Given the description of an element on the screen output the (x, y) to click on. 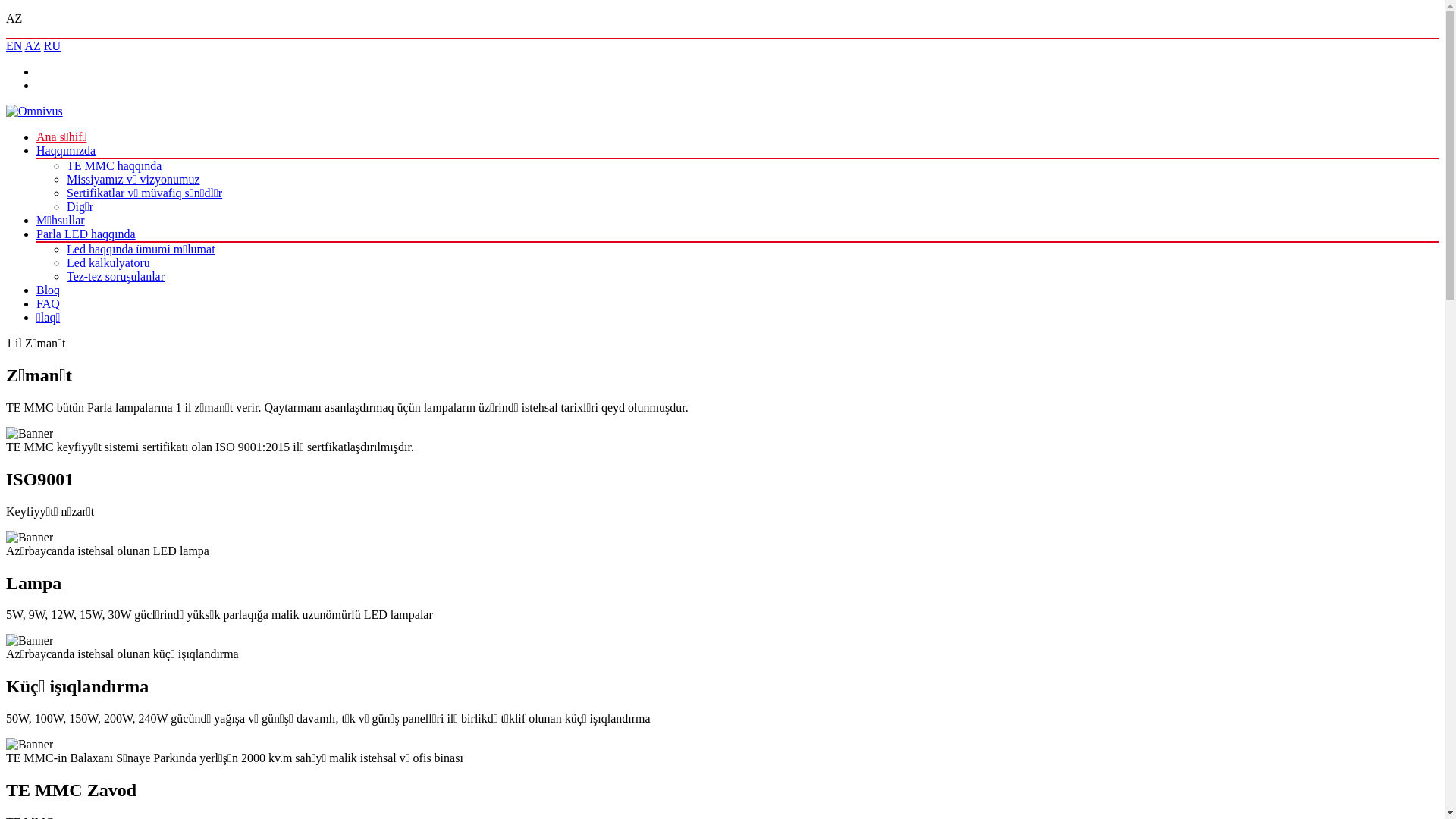
FAQ Element type: text (47, 303)
EN Element type: text (13, 45)
Led kalkulyatoru Element type: text (108, 262)
RU Element type: text (51, 45)
AZ Element type: text (32, 45)
Bloq Element type: text (47, 289)
